Given the description of an element on the screen output the (x, y) to click on. 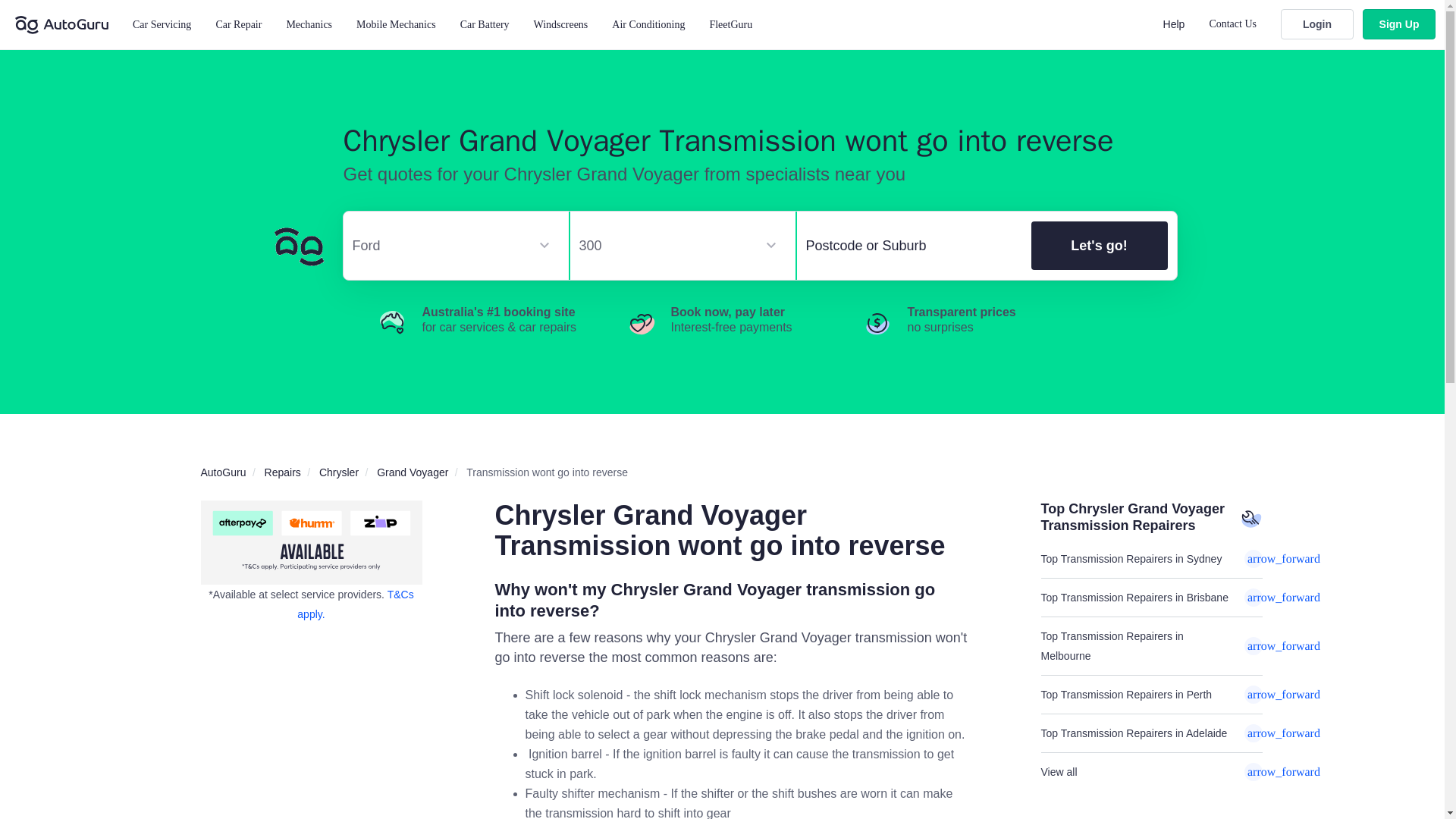
Grand Voyager (412, 472)
Top Transmission Repairers in Brisbane (1151, 597)
about buy now pay later terms and conditions (355, 603)
Let's go! (1098, 245)
Top Transmission Repairers in Melbourne (1151, 646)
Chrysler (338, 472)
Top Transmission Repairers in Sydney (1151, 558)
Repairs (282, 472)
AutoGuru (223, 472)
